Given the description of an element on the screen output the (x, y) to click on. 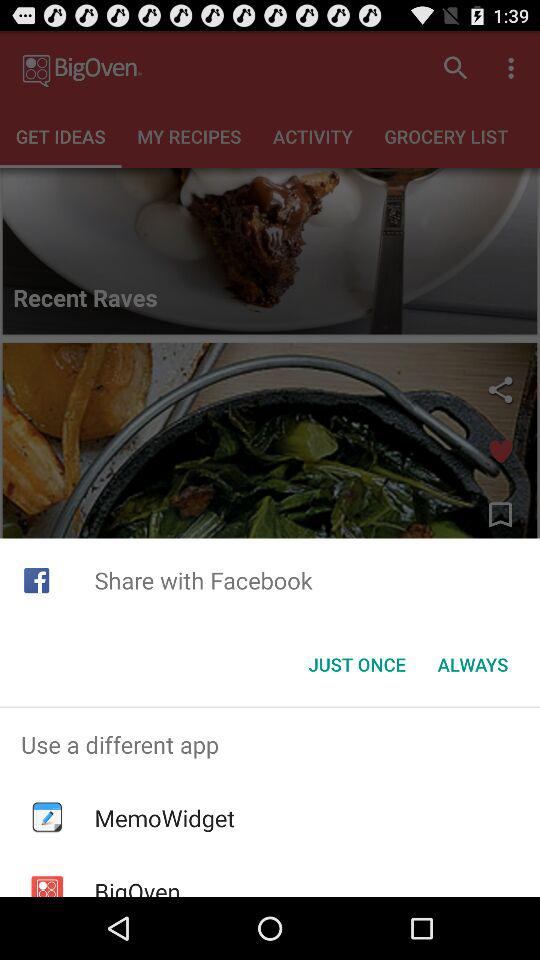
press item above the bigoven (164, 817)
